Given the description of an element on the screen output the (x, y) to click on. 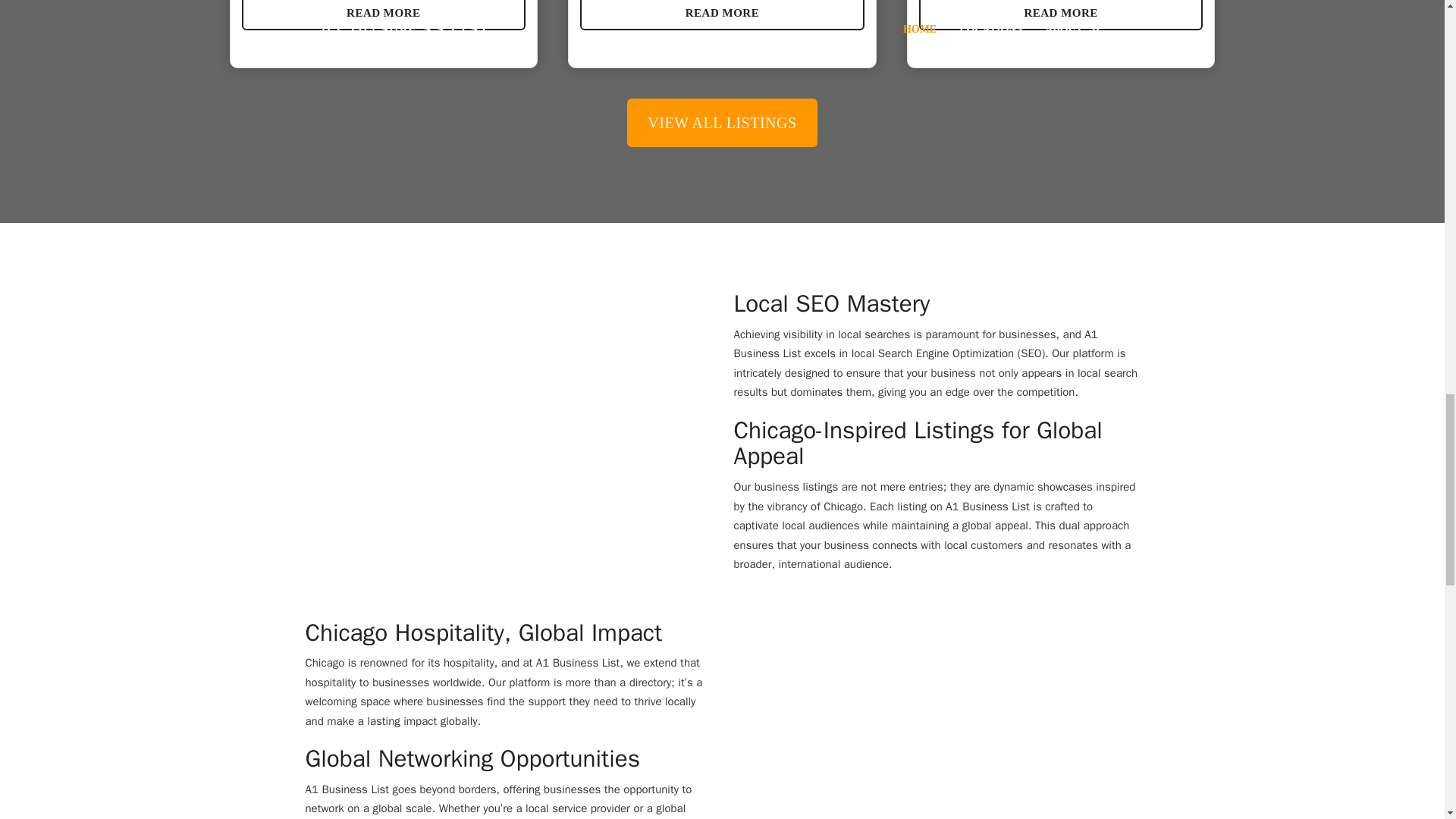
READ MORE (383, 15)
READ MORE (1061, 15)
VIEW ALL LISTINGS (721, 122)
READ MORE (721, 15)
